Given the description of an element on the screen output the (x, y) to click on. 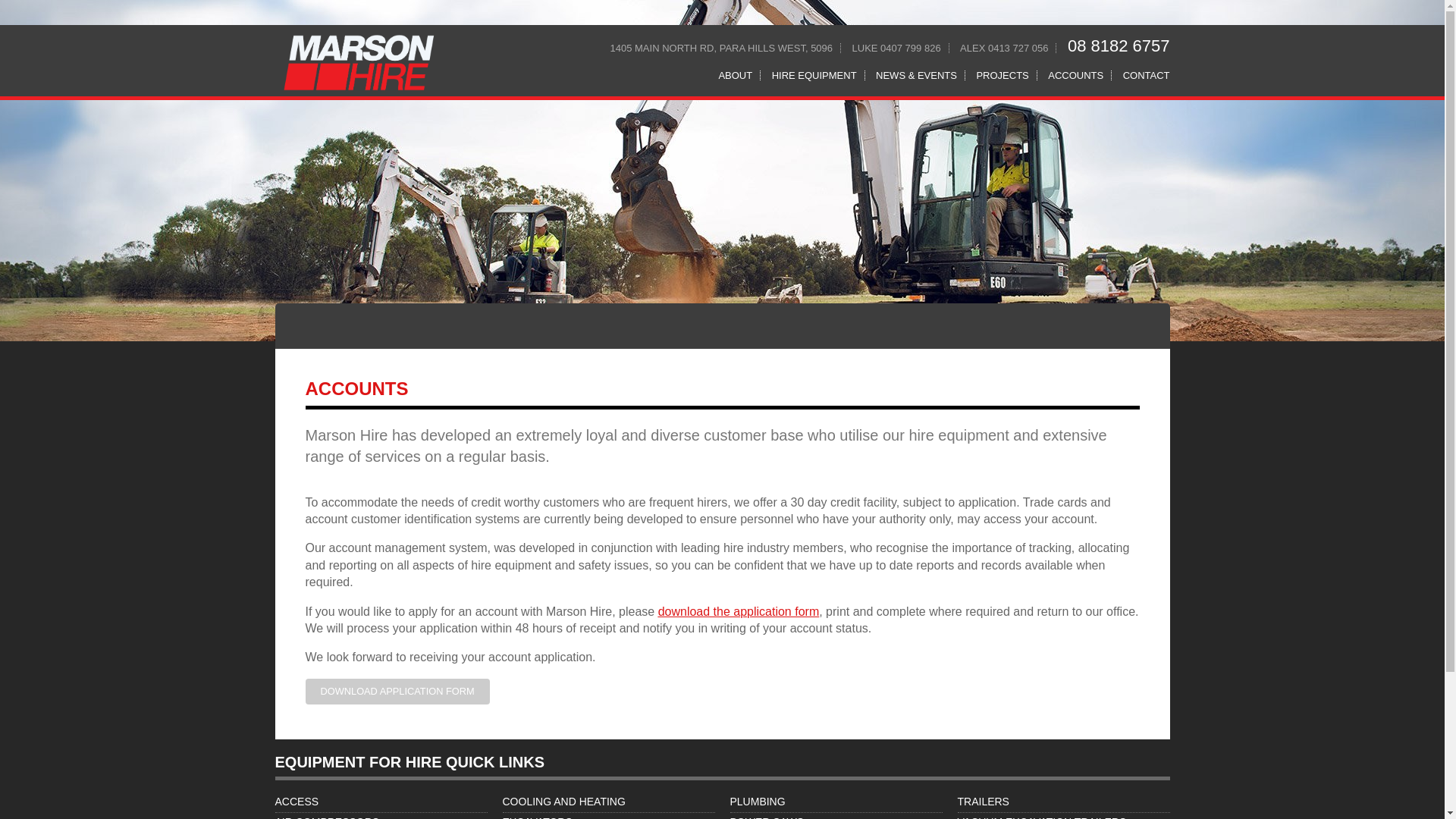
ACCOUNTS (1076, 75)
HIRE EQUIPMENT (814, 75)
PROJECTS (1002, 75)
CONTACT (1142, 75)
ABOUT (735, 75)
